Given the description of an element on the screen output the (x, y) to click on. 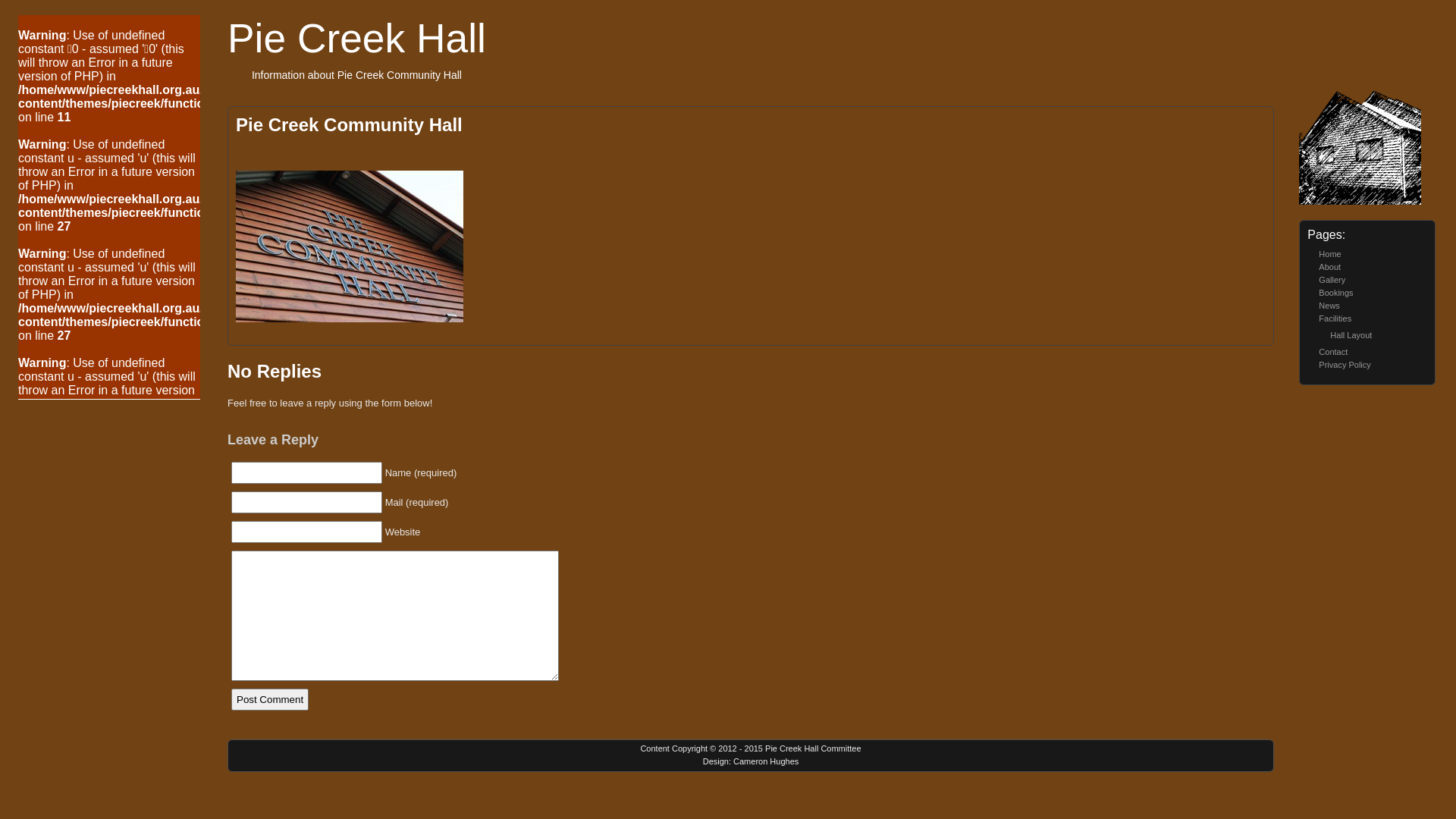
Bookings Element type: text (1335, 292)
About Element type: text (1329, 266)
Contact Element type: text (1332, 351)
Gallery Element type: text (1331, 279)
Facilities Element type: text (1334, 318)
News Element type: text (1328, 305)
Privacy Policy Element type: text (1344, 364)
Hall Layout Element type: text (1350, 334)
Home Element type: text (1329, 253)
Post Comment Element type: text (269, 699)
